Given the description of an element on the screen output the (x, y) to click on. 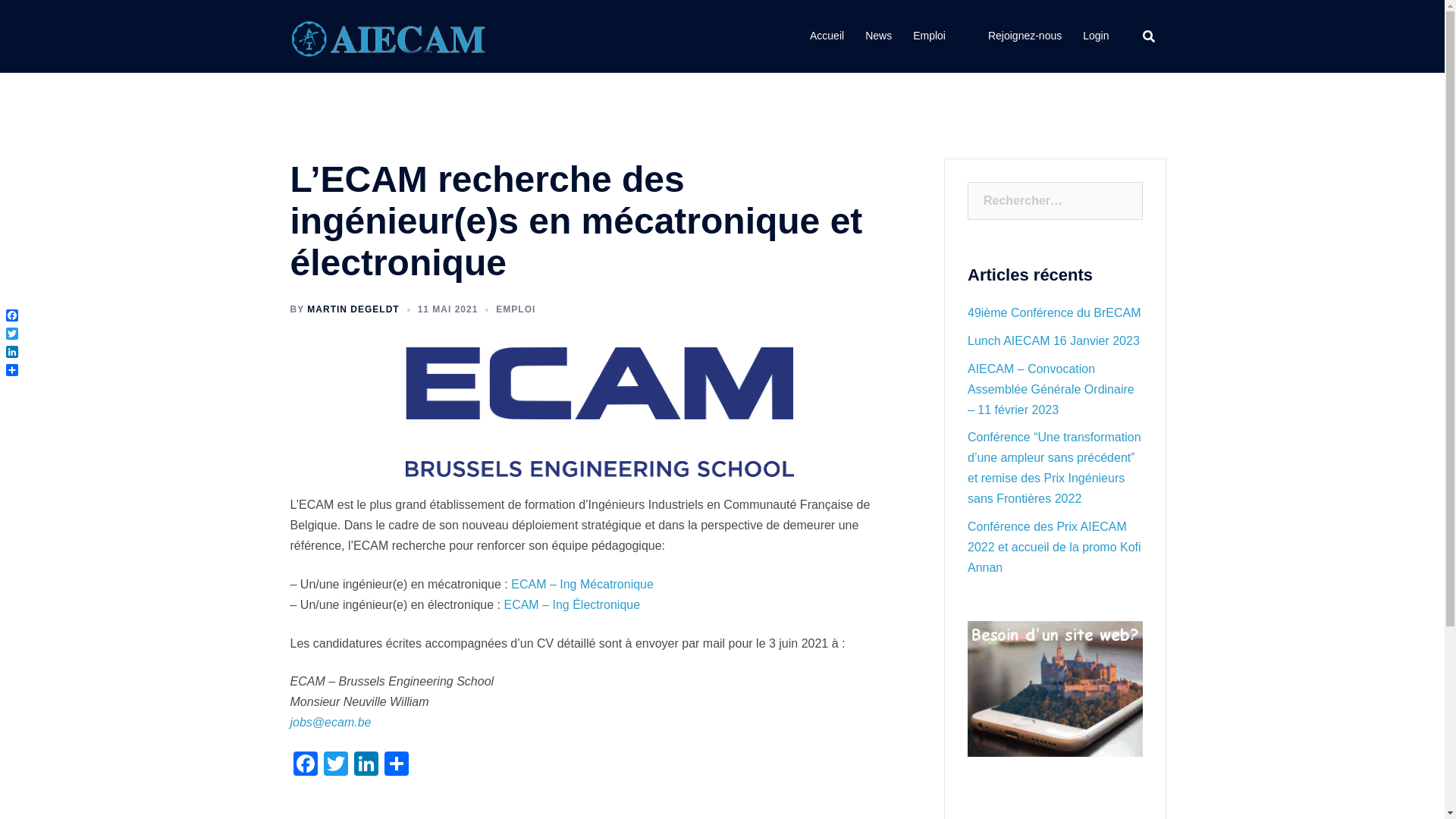
Twitter Element type: text (12, 333)
Facebook Element type: text (304, 765)
Rechercher Element type: text (64, 18)
LinkedIn Element type: text (365, 765)
Lunch AIECAM 16 Janvier 2023 Element type: text (1053, 340)
LinkedIn Element type: text (12, 351)
jobs@ecam.be Element type: text (329, 721)
AIECAM Element type: hover (390, 34)
EMPLOI Element type: text (515, 309)
Facebook Element type: text (12, 315)
Rejoignez-nous Element type: text (1024, 36)
Accueil Element type: text (826, 36)
MARTIN DEGELDT Element type: text (352, 309)
News Element type: text (878, 36)
11 MAI 2021 Element type: text (447, 309)
Login Element type: text (1095, 36)
Emploi Element type: text (929, 36)
Partager Element type: text (395, 765)
Twitter Element type: text (335, 765)
Partager Element type: text (12, 369)
